Given the description of an element on the screen output the (x, y) to click on. 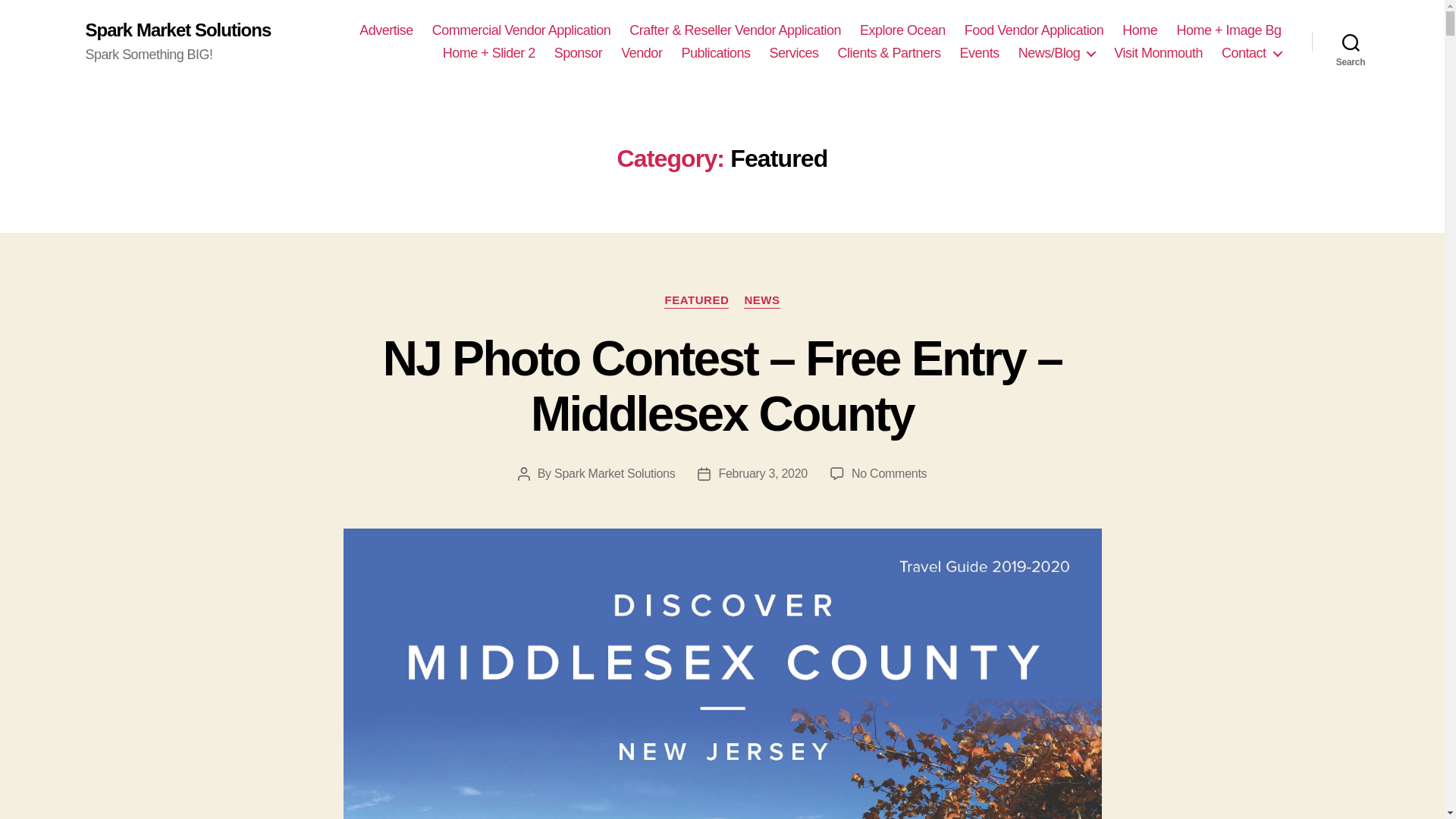
Contact (1251, 53)
Explore Ocean (902, 30)
Events (978, 53)
Publications (715, 53)
Vendor (641, 53)
Services (793, 53)
Spark Market Solutions (177, 30)
Commercial Vendor Application (521, 30)
Sponsor (578, 53)
Visit Monmouth (1157, 53)
